Given the description of an element on the screen output the (x, y) to click on. 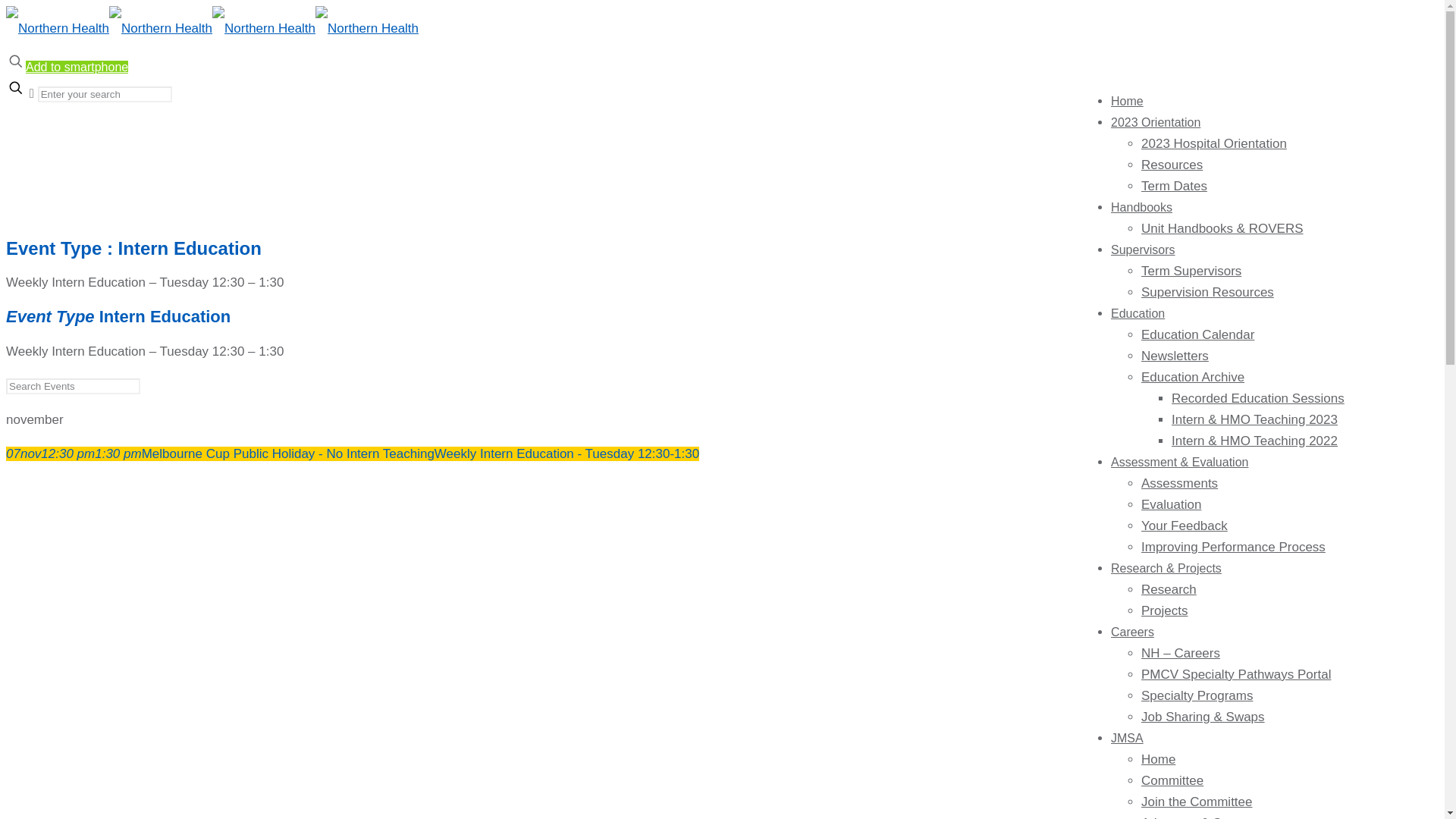
Specialty Programs Element type: text (1196, 695)
Assessment & Evaluation Element type: text (1179, 462)
Supervision Resources Element type: text (1207, 292)
Research & Projects Element type: text (1165, 568)
Resources Element type: text (1171, 164)
JMSA Element type: text (1126, 738)
PMCV Specialty Pathways Portal Element type: text (1235, 674)
Education Calendar Element type: text (1197, 334)
Projects Element type: text (1164, 610)
Home Element type: text (1126, 101)
Supervisors Element type: text (1142, 249)
Your Feedback Element type: text (1184, 525)
Recorded Education Sessions Element type: text (1257, 398)
Home Element type: text (1158, 759)
Add to smartphone Element type: text (76, 66)
Evaluation Element type: text (1171, 504)
Intern & HMO Teaching 2023 Element type: text (1254, 419)
Intern & HMO Teaching 2022 Element type: text (1254, 440)
Improving Performance Process Element type: text (1233, 546)
Education Element type: text (1137, 313)
Term Dates Element type: text (1174, 185)
Home Element type: text (53, 165)
Northern Doctors Element type: hover (212, 28)
Newsletters Element type: text (1174, 355)
Research Element type: text (1168, 589)
Join the Committee Element type: text (1196, 801)
Job Sharing & Swaps Element type: text (1202, 716)
Education Archive Element type: text (1192, 377)
Unit Handbooks & ROVERS Element type: text (1222, 228)
Committee Element type: text (1172, 780)
Careers Element type: text (1132, 631)
2023 Orientation Element type: text (1155, 122)
2023 Hospital Orientation Element type: text (1213, 143)
Assessments Element type: text (1179, 483)
Handbooks Element type: text (1141, 207)
Term Supervisors Element type: text (1191, 270)
